Given the description of an element on the screen output the (x, y) to click on. 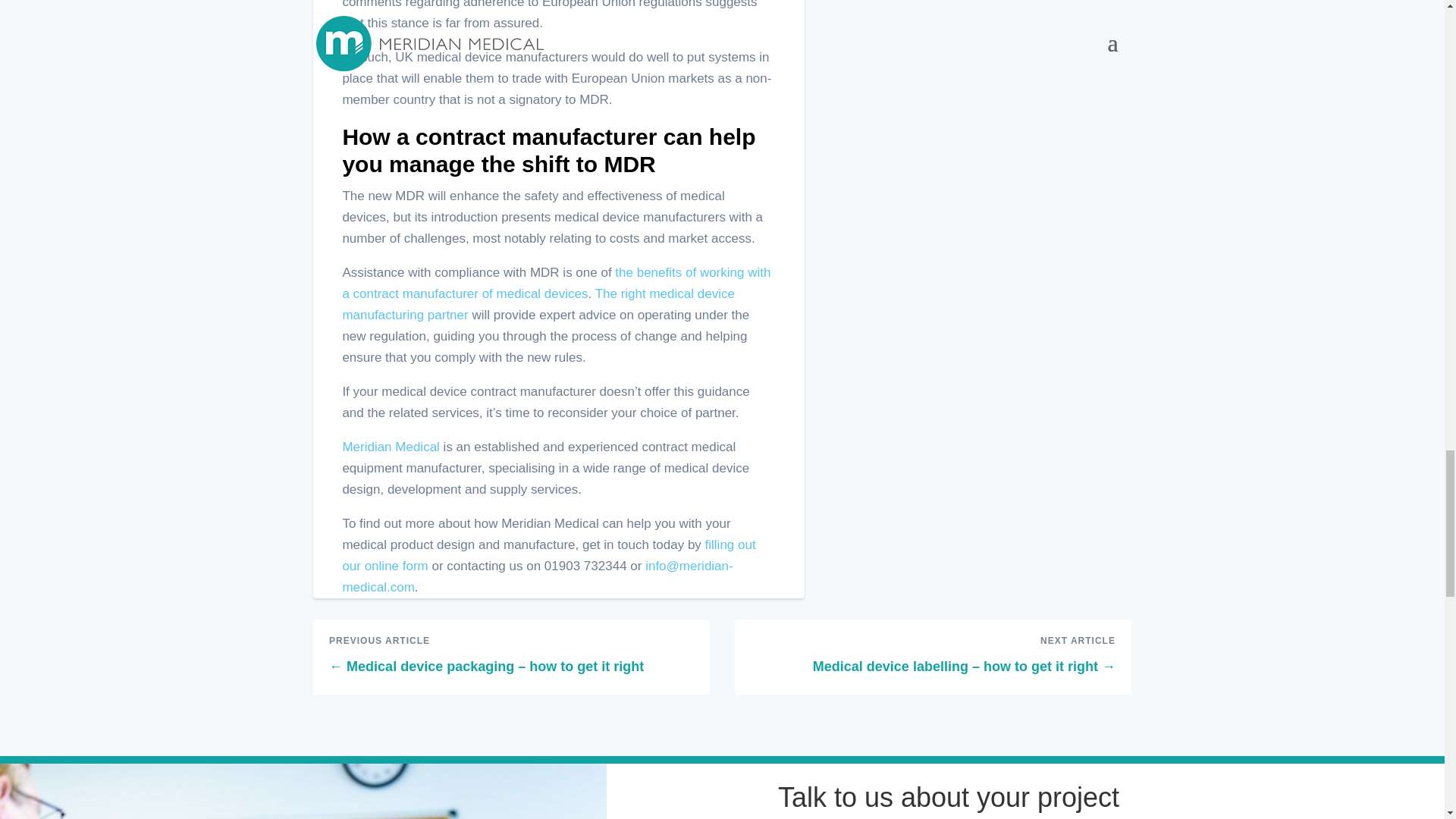
filling out our online form (548, 555)
The right medical device manufacturing partner (538, 304)
Medical device manufacturing project contact (303, 791)
Meridian Medical (390, 446)
